Given the description of an element on the screen output the (x, y) to click on. 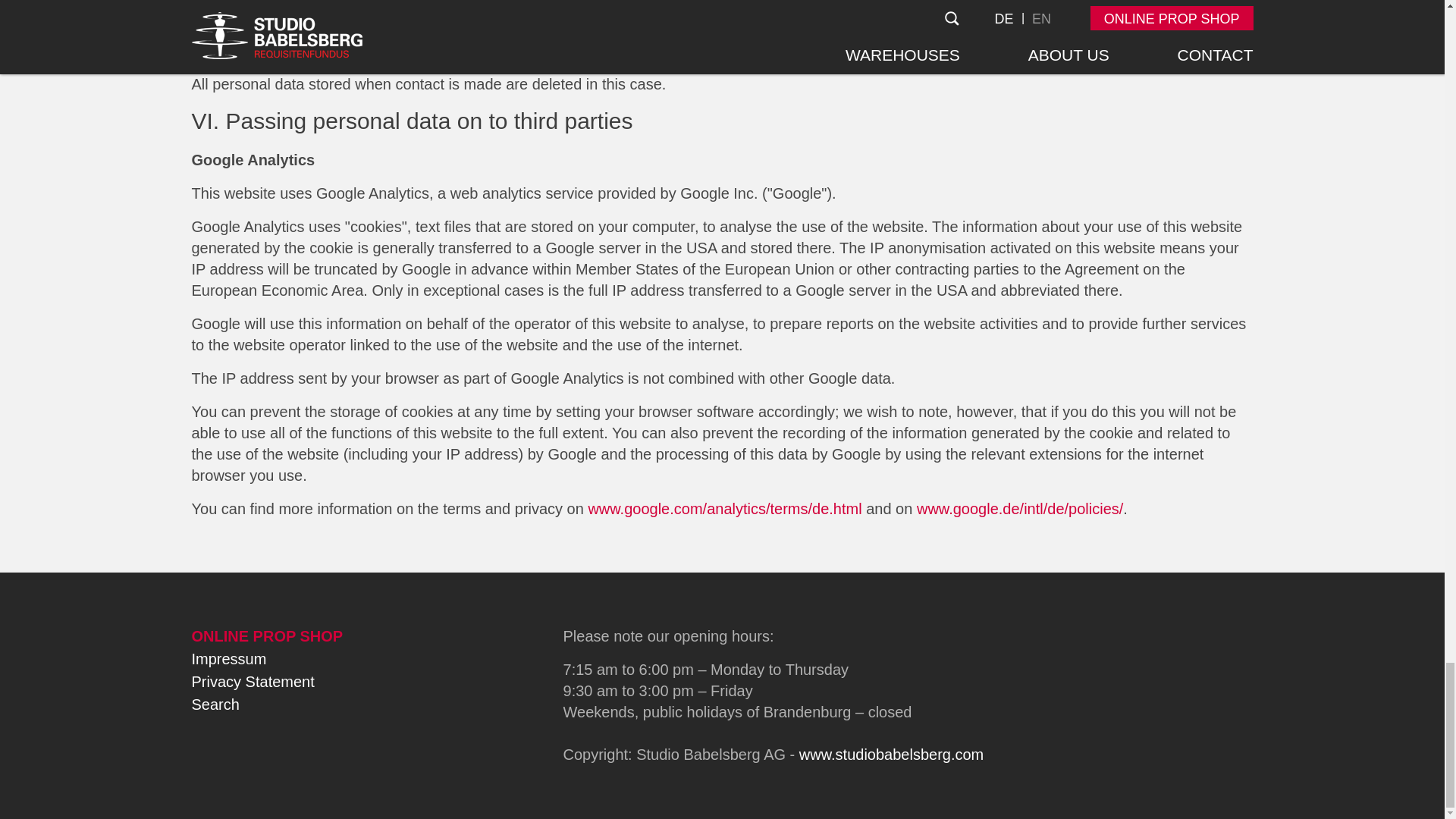
Search (214, 704)
ONLINE PROP SHOP (266, 636)
Impressum (228, 658)
www.studiobabelsberg.com (891, 754)
Privacy Statement (252, 681)
